Given the description of an element on the screen output the (x, y) to click on. 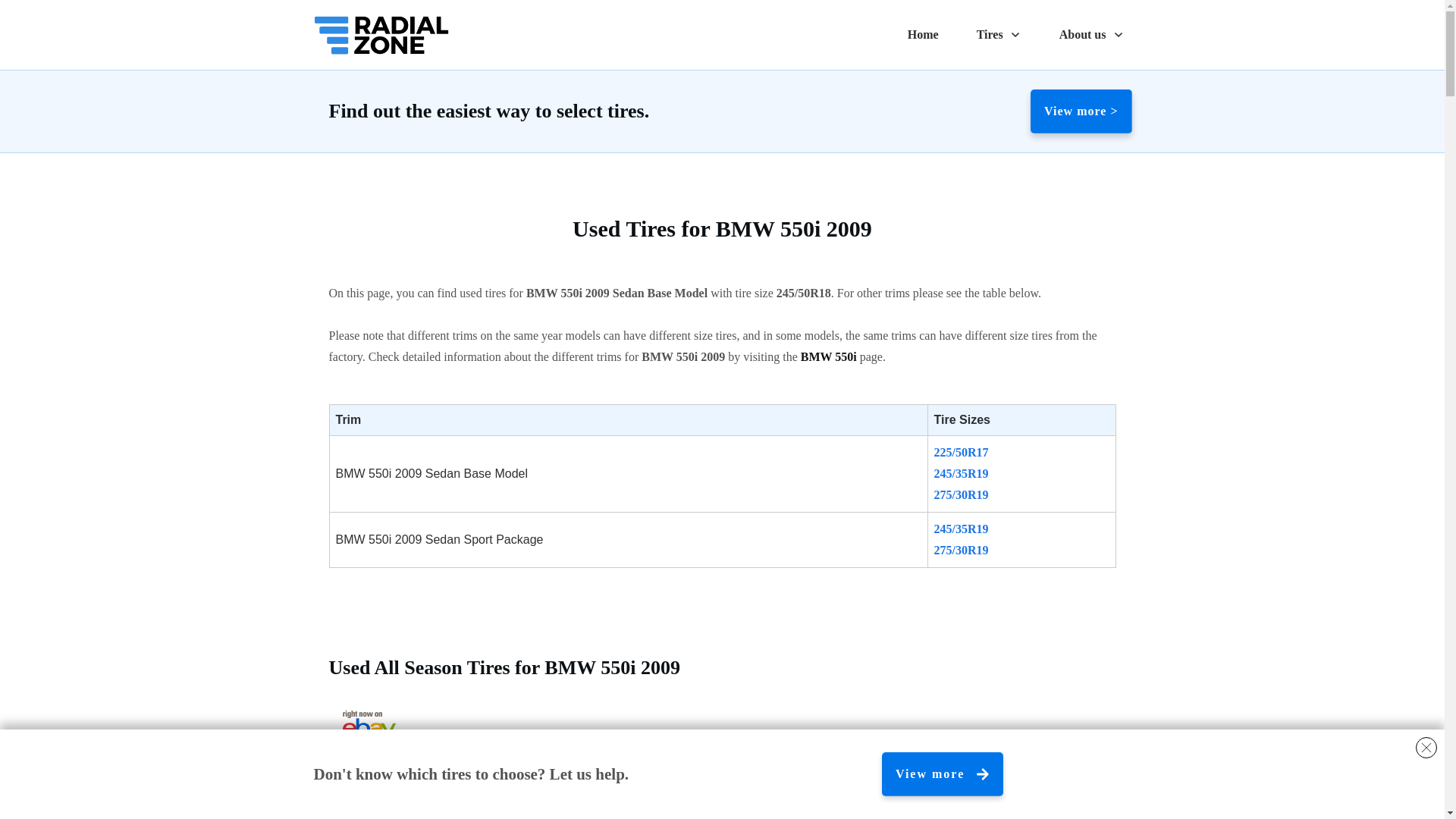
Tires (999, 34)
BMW 550i (828, 356)
About us (1091, 34)
Home (923, 34)
